Given the description of an element on the screen output the (x, y) to click on. 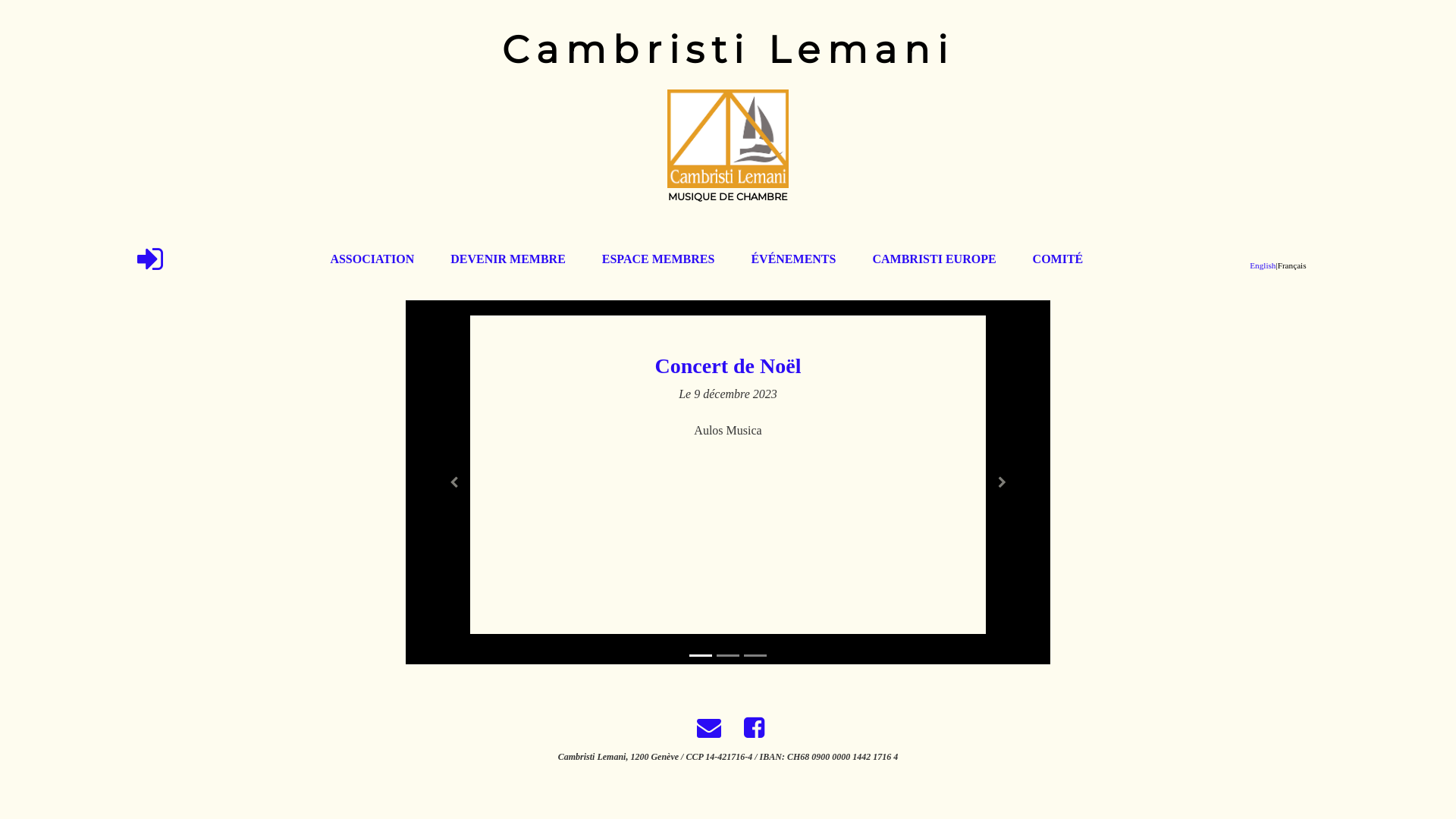
ESPACE MEMBRES Element type: text (658, 259)
DEVENIR MEMBRE Element type: text (507, 259)
English Element type: text (1262, 264)
CAMBRISTI EUROPE Element type: text (933, 259)
Facebook Element type: hover (751, 731)
ASSOCIATION Element type: text (371, 259)
Connexion Element type: hover (150, 259)
Email Element type: hover (707, 731)
